Given the description of an element on the screen output the (x, y) to click on. 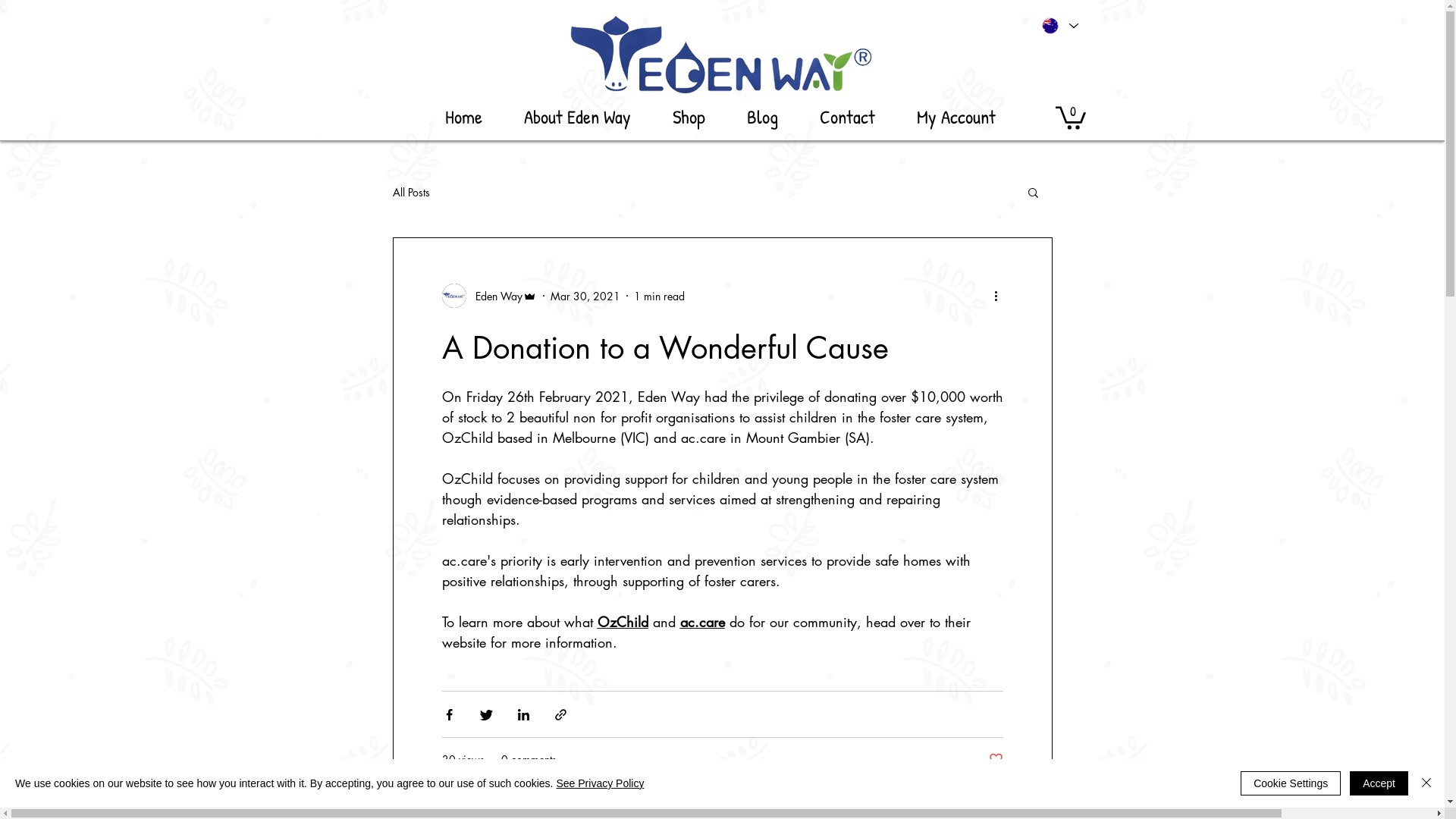
Shop Element type: text (689, 116)
OzChild Element type: text (466, 478)
OzChild Element type: text (466, 437)
All Posts Element type: text (410, 192)
Home Element type: text (463, 116)
See Privacy Policy Element type: text (599, 783)
Cookie Settings Element type: text (1290, 783)
Post not marked as liked Element type: text (995, 759)
My Account Element type: text (956, 116)
ac.care Element type: text (463, 560)
ac.care Element type: text (702, 437)
Blog Element type: text (762, 116)
Contact Element type: text (847, 116)
Eden Way Element type: text (488, 295)
Accept Element type: text (1378, 783)
Wix Chat Element type: hover (1357, 782)
0 Element type: text (1070, 116)
ac.care Element type: text (701, 621)
About Eden Way Element type: text (577, 116)
OzChild Element type: text (622, 621)
